Given the description of an element on the screen output the (x, y) to click on. 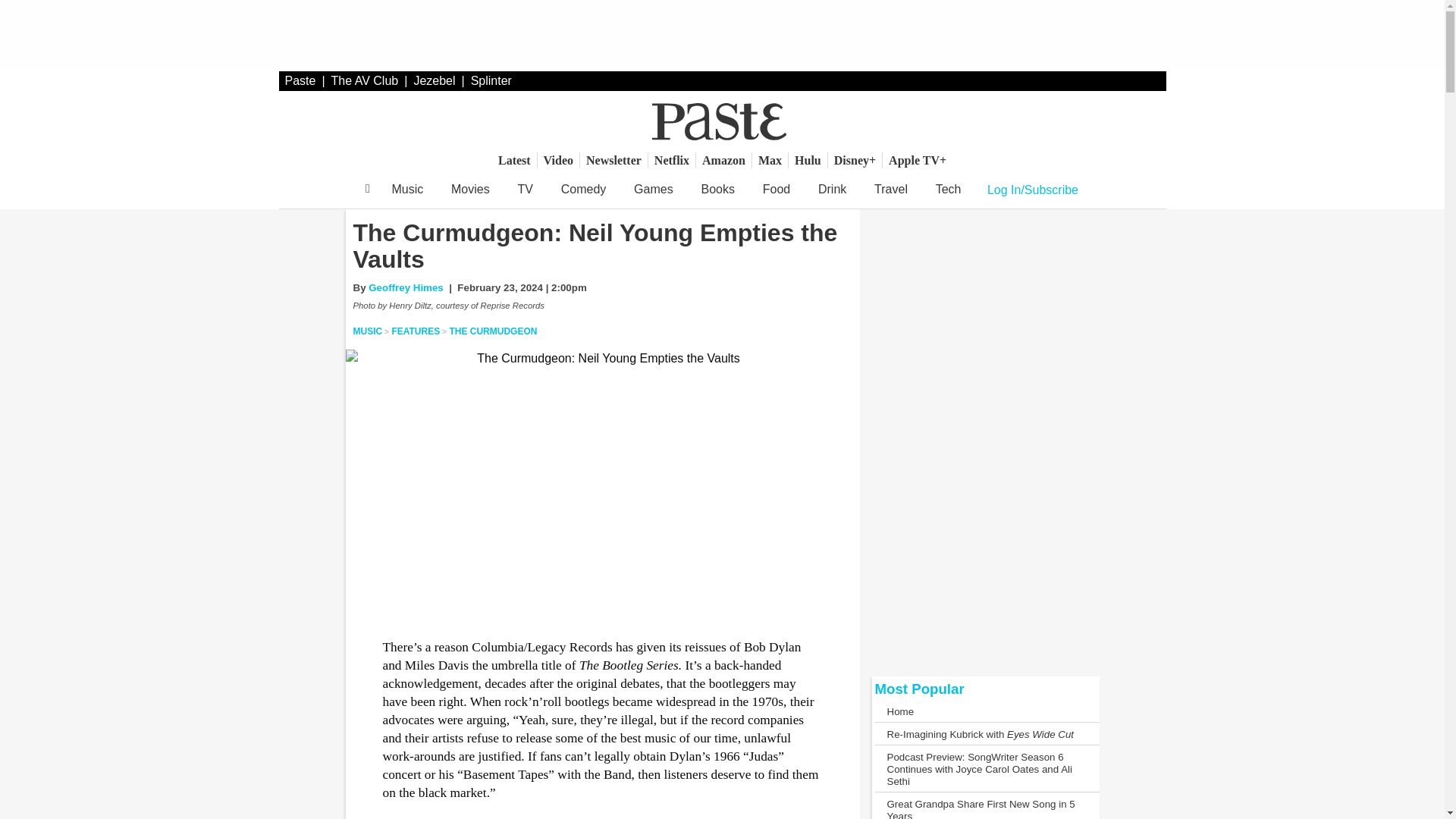
Splinter (491, 80)
Video (558, 160)
Max (769, 160)
Hulu (808, 160)
The AV Club (364, 80)
Paste (300, 80)
Jezebel (433, 80)
Amazon (723, 160)
Netflix (671, 160)
Newsletter (613, 160)
Latest (514, 160)
